Given the description of an element on the screen output the (x, y) to click on. 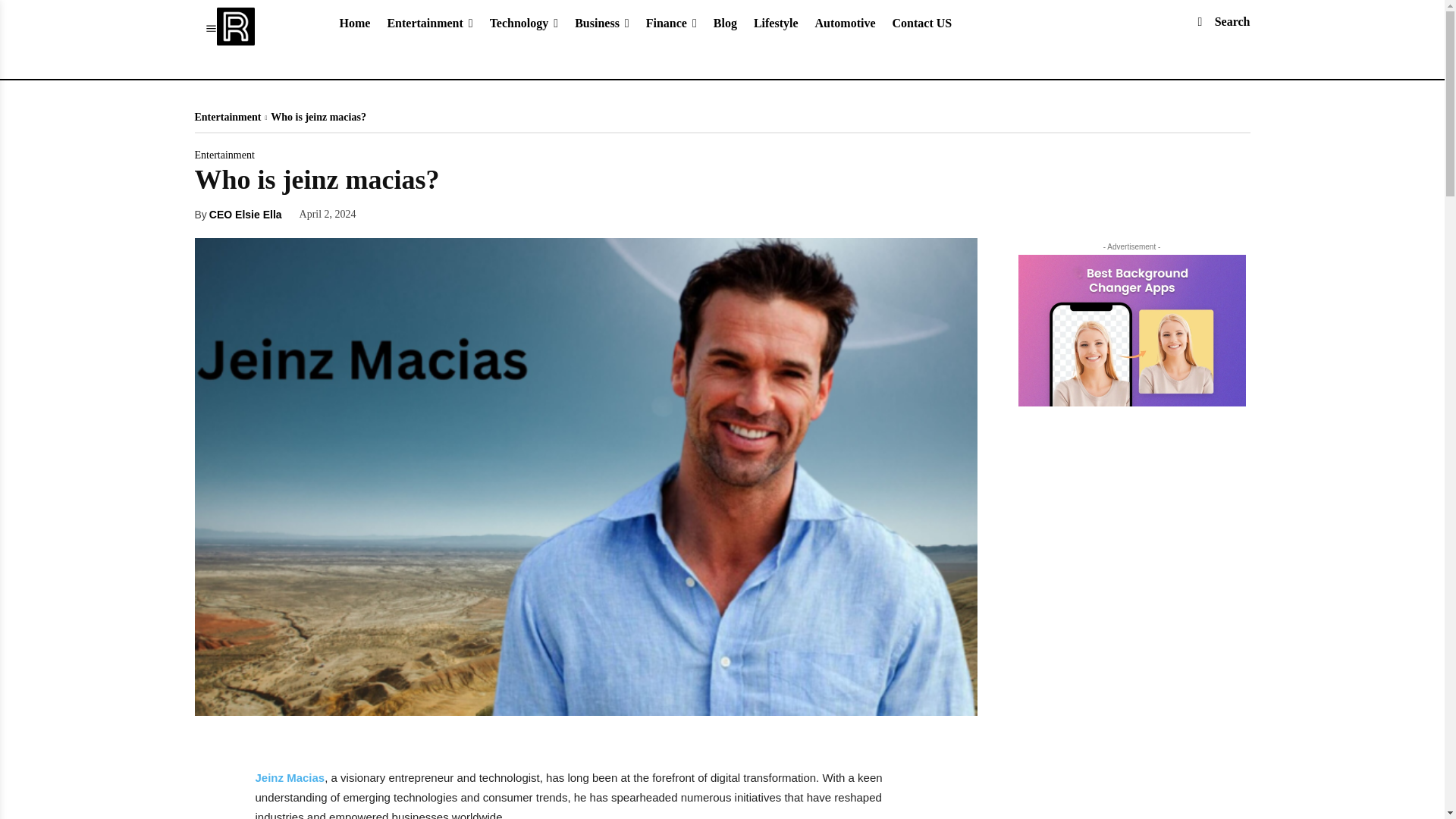
Entertainment (429, 22)
Technology (524, 22)
Home (354, 22)
